Given the description of an element on the screen output the (x, y) to click on. 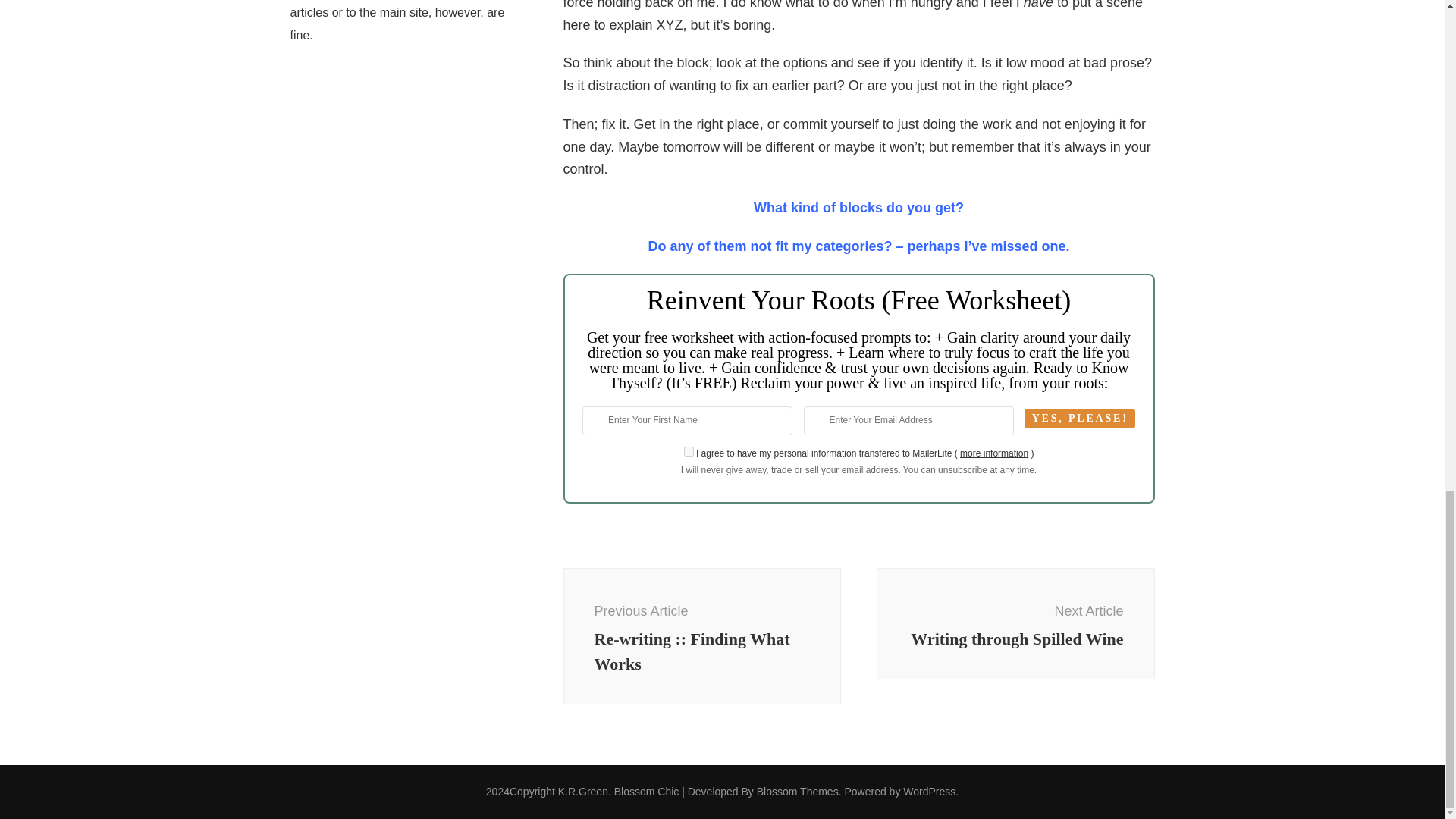
YES, PLEASE! (1080, 418)
K.R.Green (701, 636)
on (582, 791)
YES, PLEASE! (689, 451)
more information (1015, 624)
Blossom Themes (1080, 418)
WordPress (993, 452)
